Given the description of an element on the screen output the (x, y) to click on. 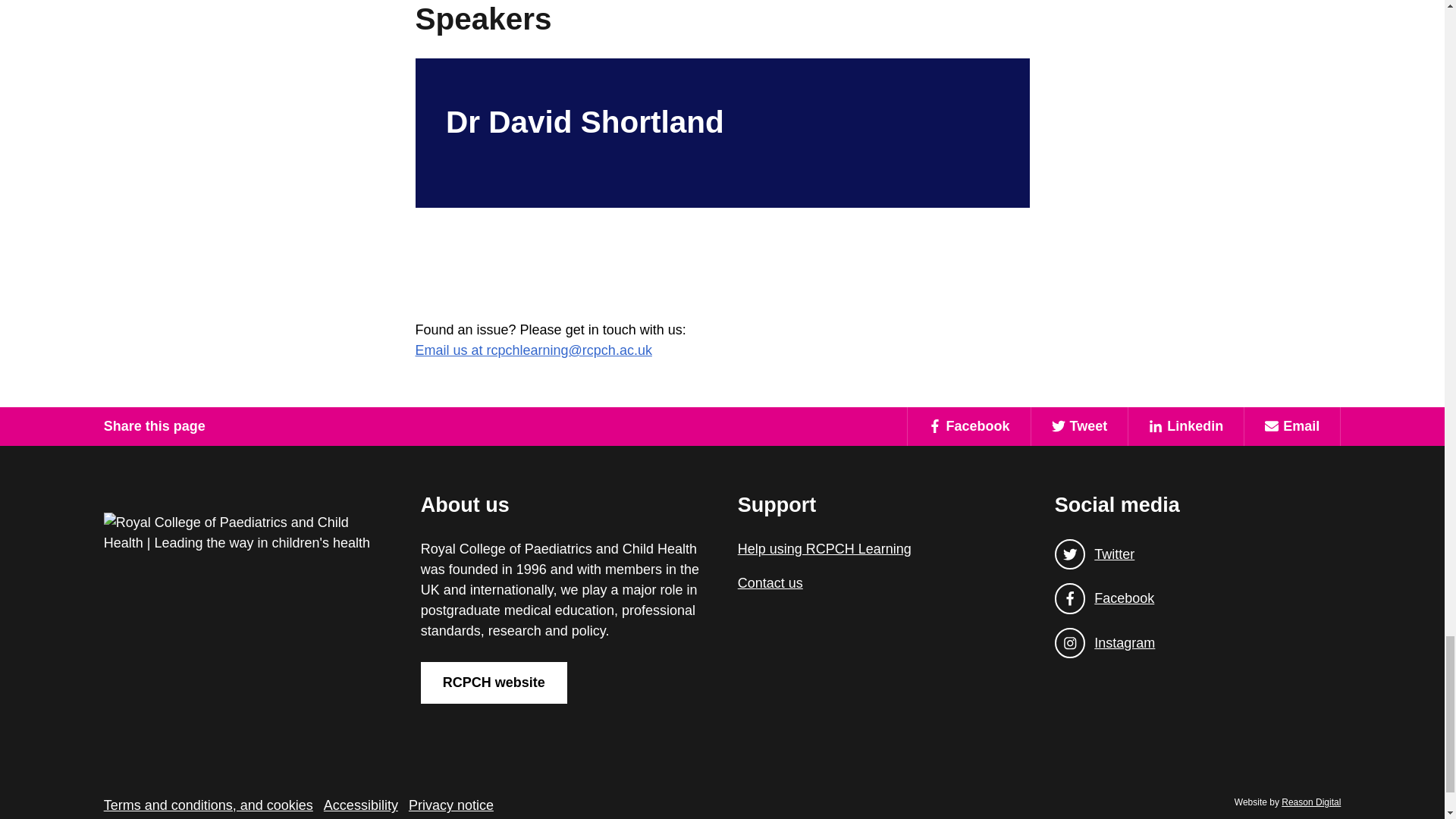
Share on Facebook (968, 426)
Tweet this page (1079, 426)
Share on LinkedIn (1184, 426)
Share via Email (1291, 426)
